Given the description of an element on the screen output the (x, y) to click on. 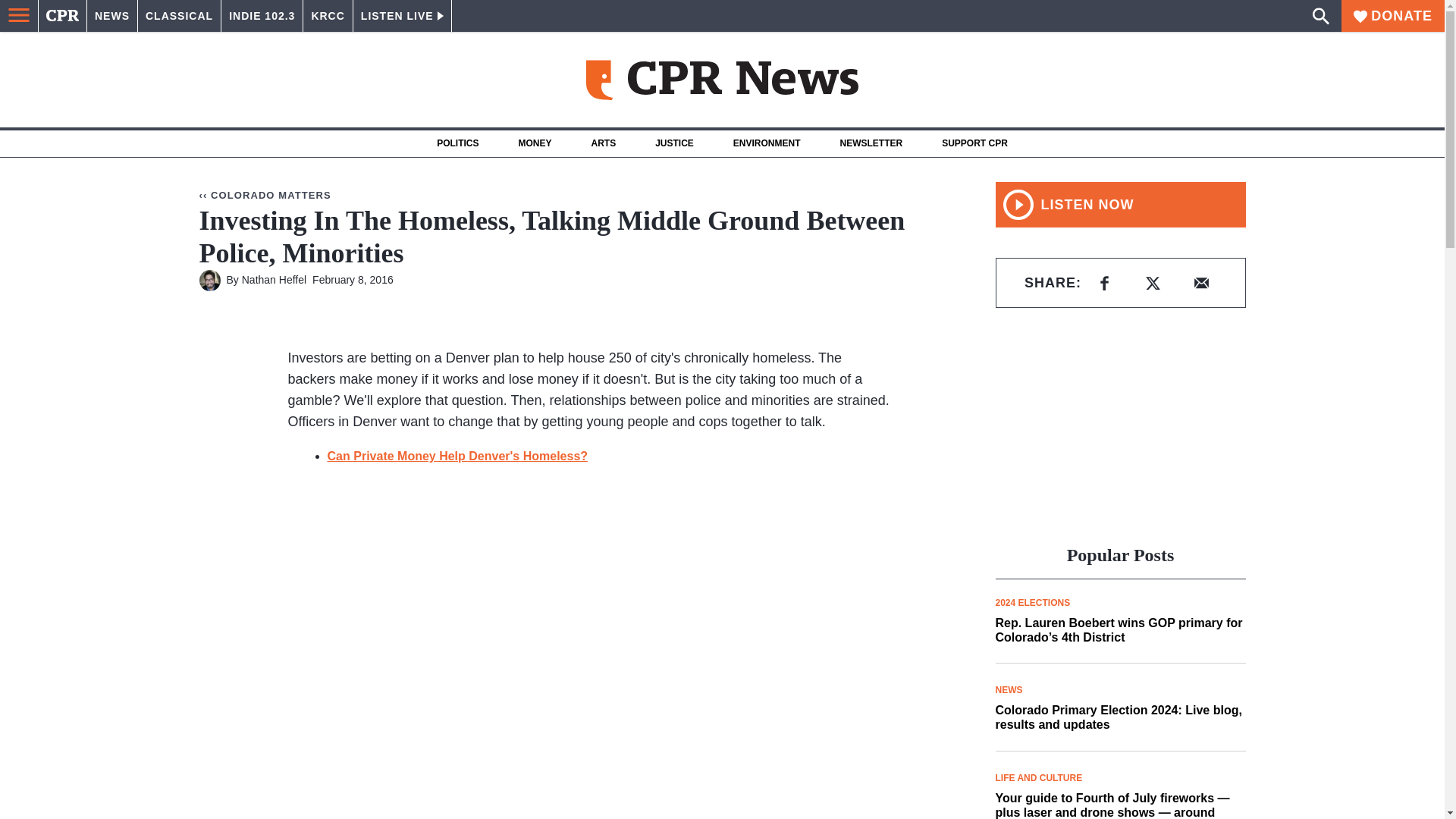
LISTEN LIVE (402, 15)
CLASSICAL (179, 15)
INDIE 102.3 (261, 15)
KRCC (327, 15)
NEWS (111, 15)
